Given the description of an element on the screen output the (x, y) to click on. 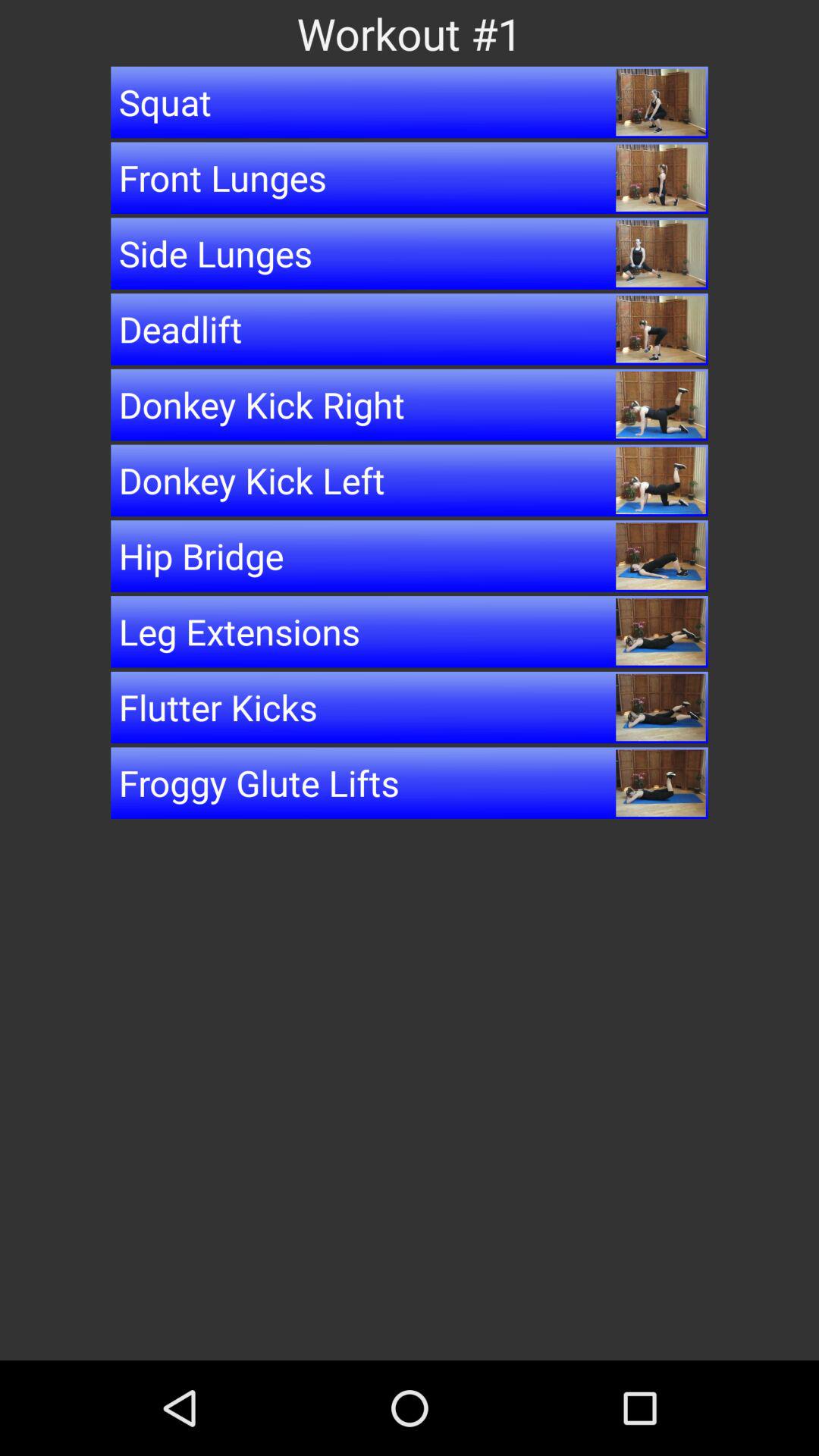
open item above froggy glute lifts (409, 707)
